Given the description of an element on the screen output the (x, y) to click on. 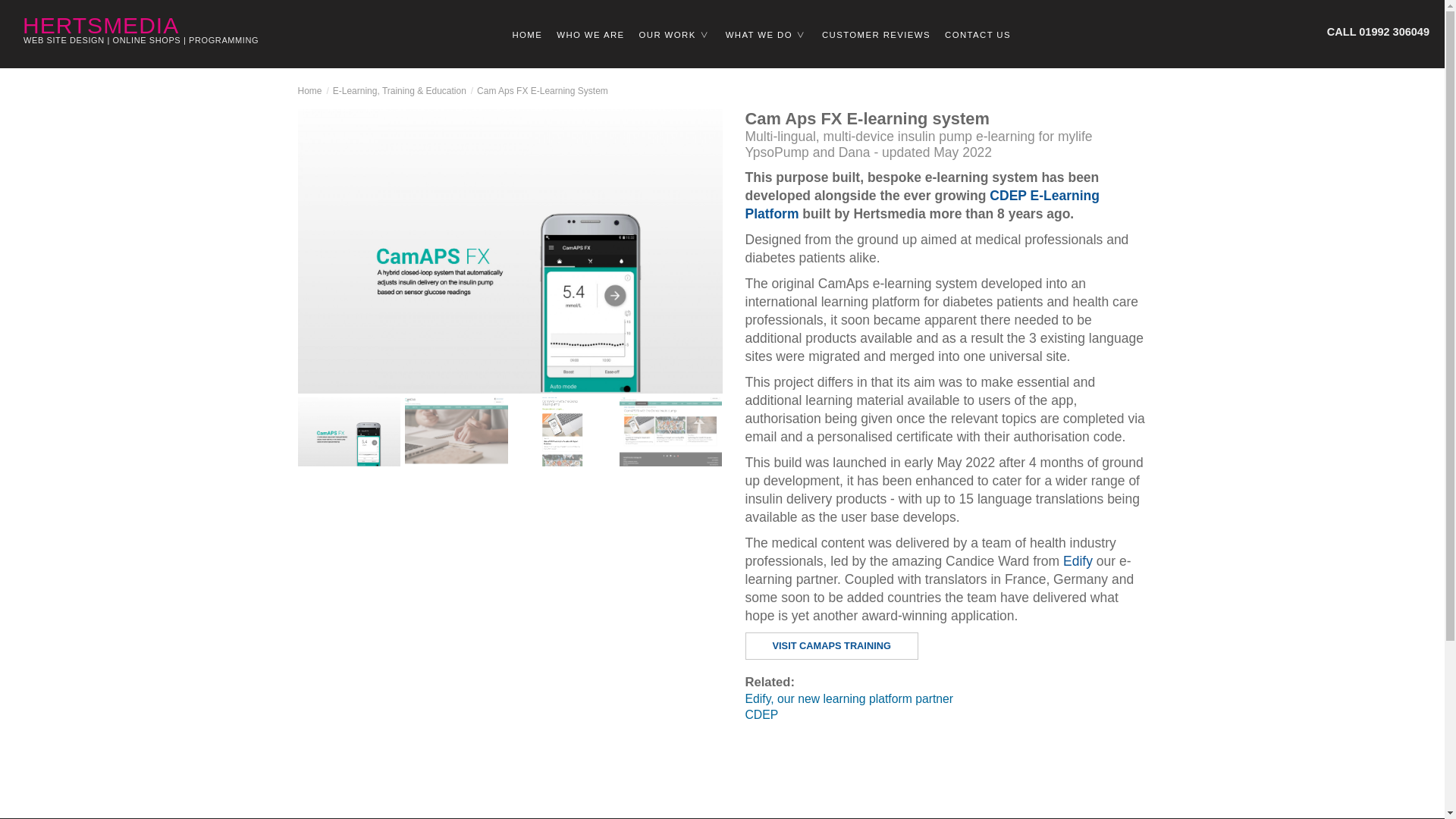
Edify, our new learning platform partner (945, 698)
WHAT WE DO (765, 34)
Edify (1079, 560)
CDEP (945, 714)
Home (309, 94)
VISIT CAMAPS TRAINING (830, 646)
CUSTOMER REVIEWS (875, 34)
WHO WE ARE (590, 34)
OUR WORK (674, 34)
CONTACT US (977, 34)
CDEP E-Learning Platform (921, 204)
CALL 01992 306049 (1376, 31)
HOME (527, 34)
